Given the description of an element on the screen output the (x, y) to click on. 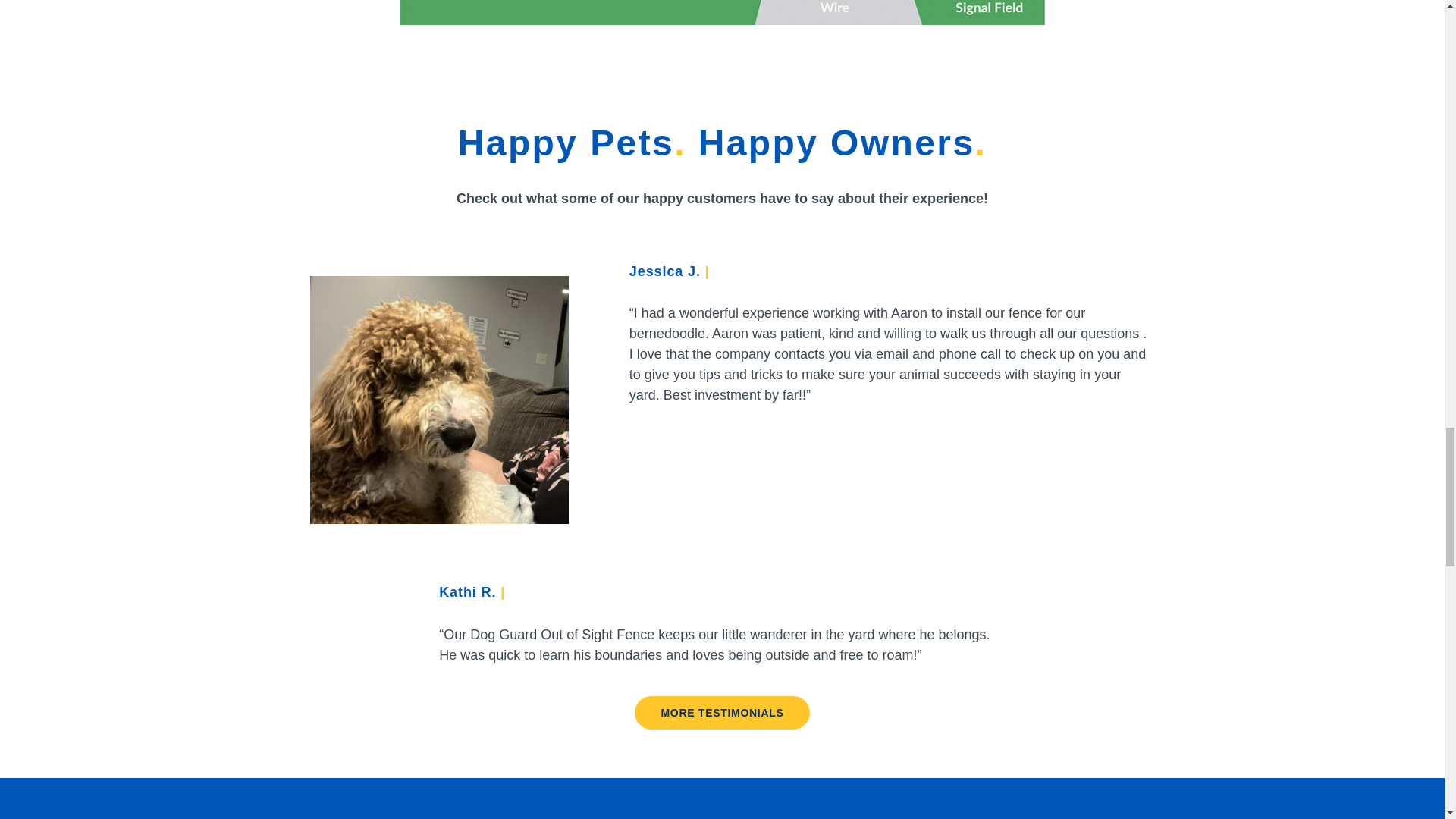
MORE TESTIMONIALS (721, 712)
